Given the description of an element on the screen output the (x, y) to click on. 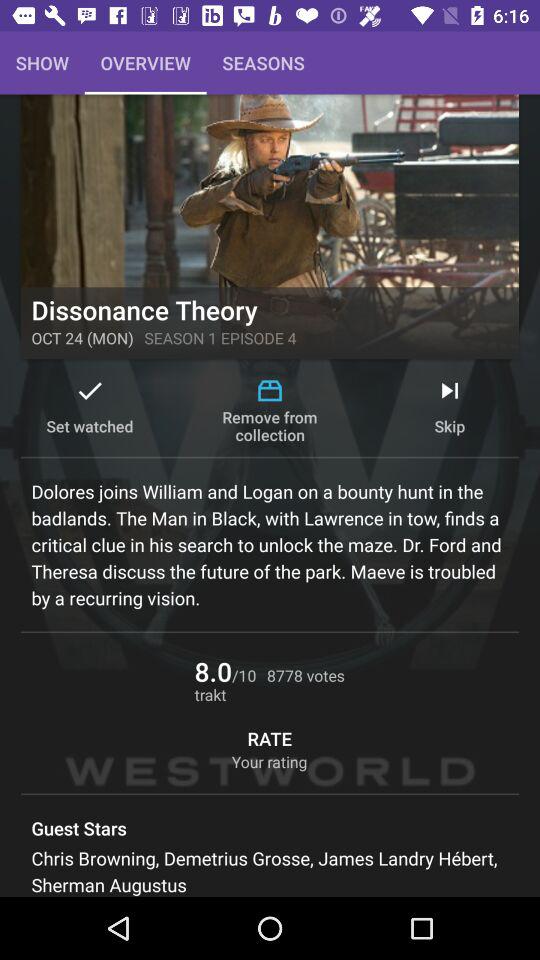
flip to chris browning demetrius (269, 871)
